Given the description of an element on the screen output the (x, y) to click on. 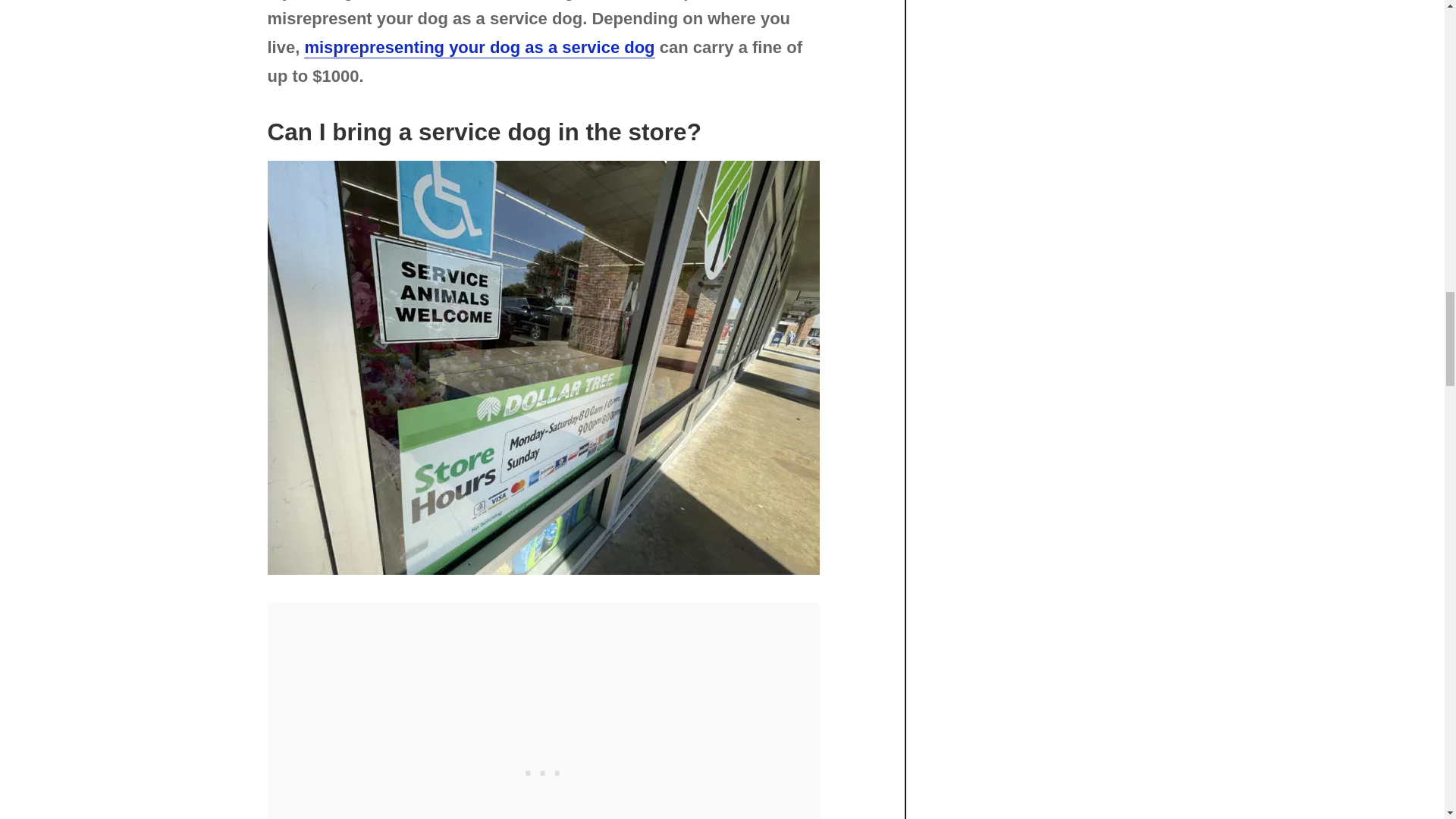
misprepresenting your dog as a service dog (478, 47)
